Given the description of an element on the screen output the (x, y) to click on. 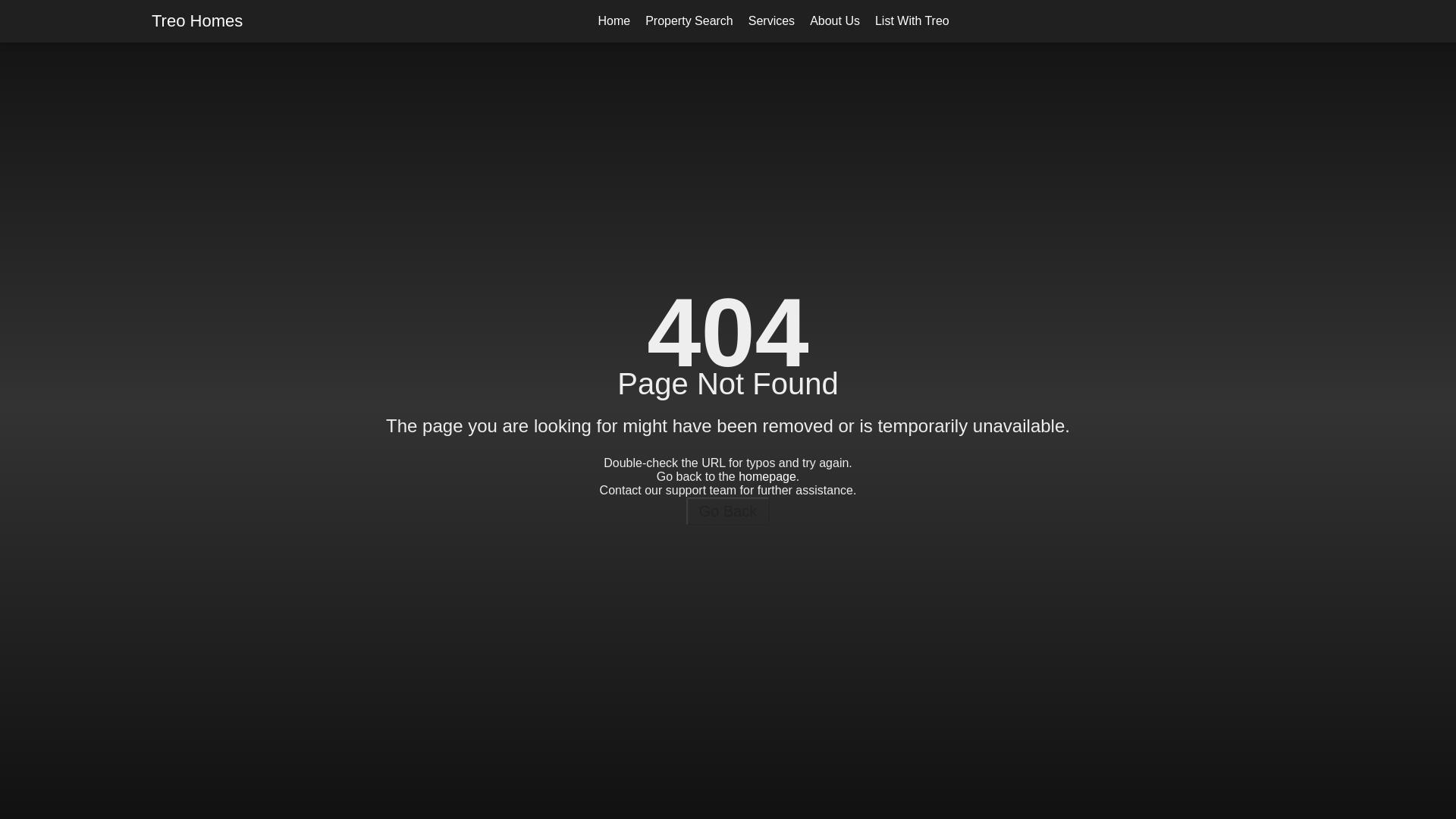
About Us (834, 20)
Home (613, 20)
List With Treo (912, 20)
Services (771, 20)
Go Back (727, 511)
Go Back (727, 510)
homepage (767, 475)
Treo Homes (197, 21)
Property Search (689, 20)
